Given the description of an element on the screen output the (x, y) to click on. 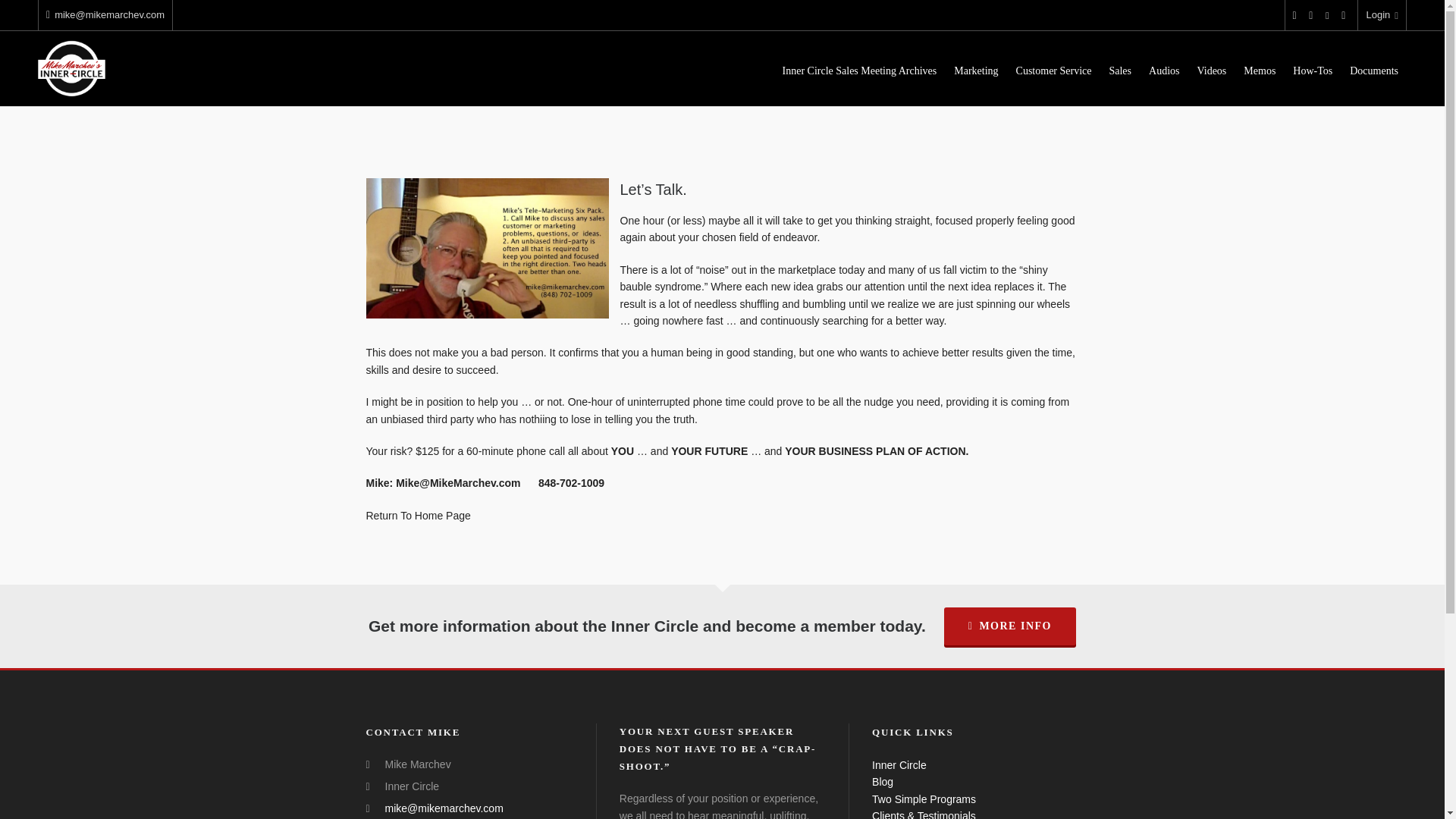
MORE INFO (1009, 626)
Login (1381, 15)
Customer Service (1053, 69)
Inner Circle Sales Meeting Archives (859, 69)
Inner Circle (899, 765)
